Given the description of an element on the screen output the (x, y) to click on. 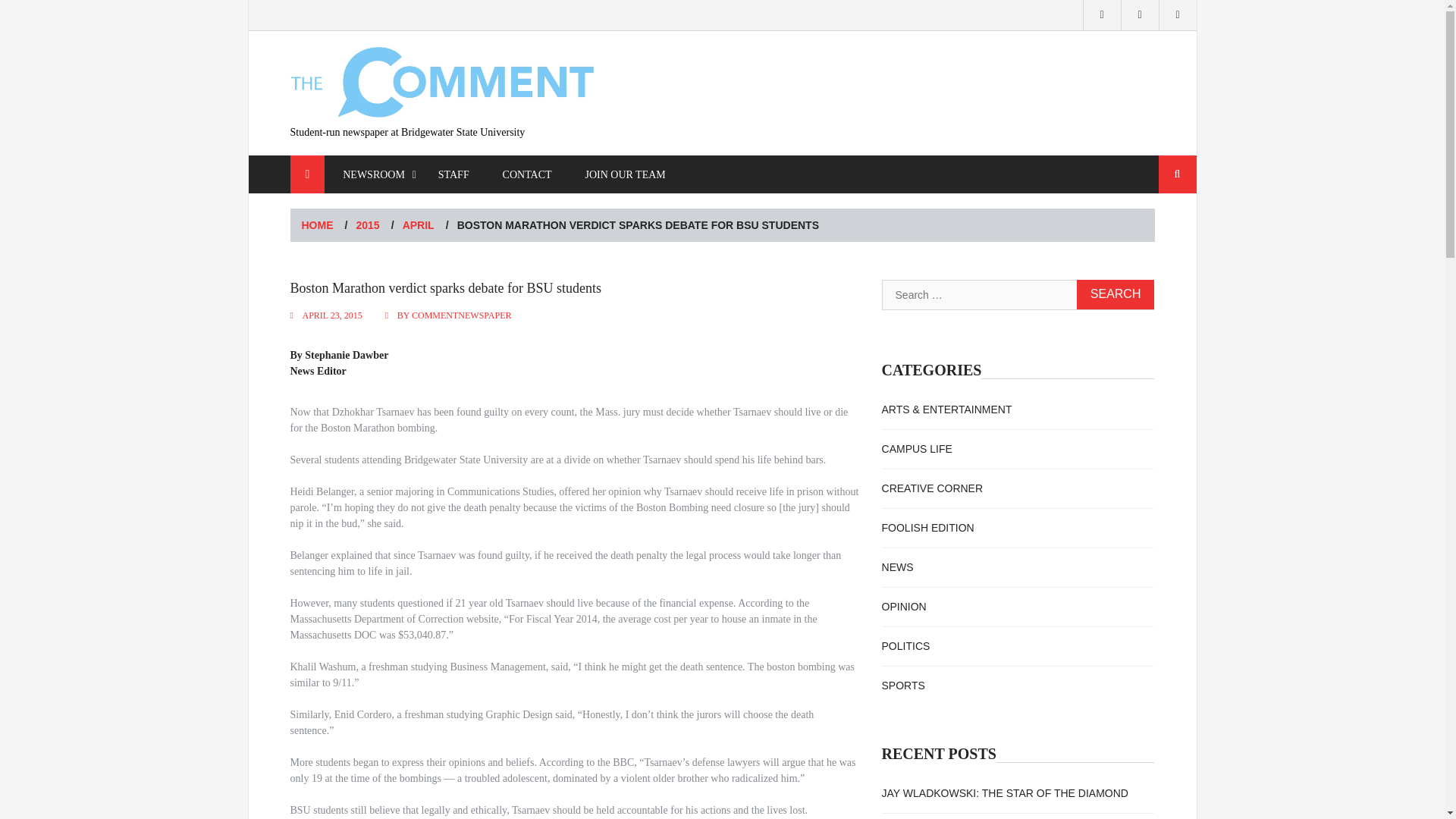
APRIL (418, 224)
INSTAGRAM (1102, 15)
COMMENTNEWSPAPER (462, 315)
Search (1115, 294)
TWITTER (1139, 15)
Search (1177, 174)
Search (1177, 174)
CONTACT (527, 174)
STAFF (453, 174)
Search (1115, 294)
